Given the description of an element on the screen output the (x, y) to click on. 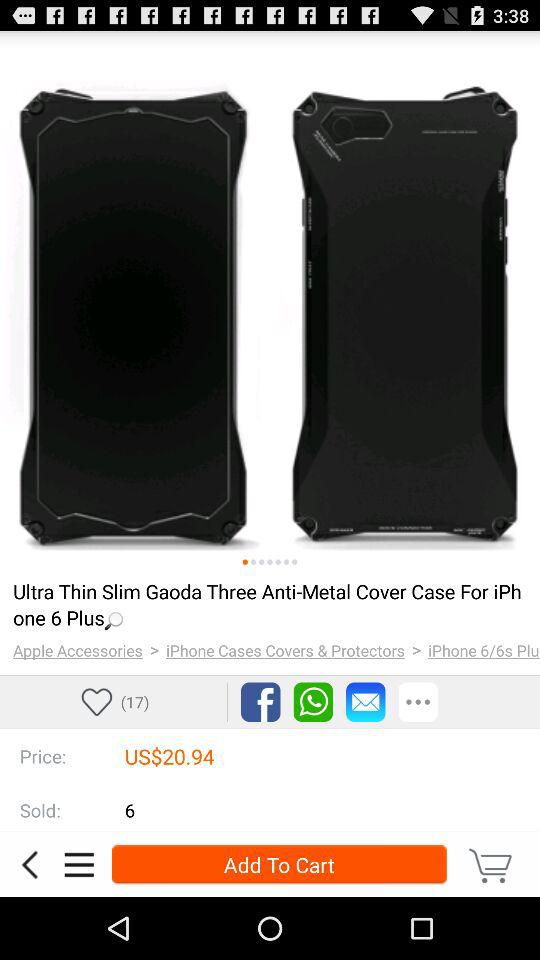
tap loading... (267, 604)
